Given the description of an element on the screen output the (x, y) to click on. 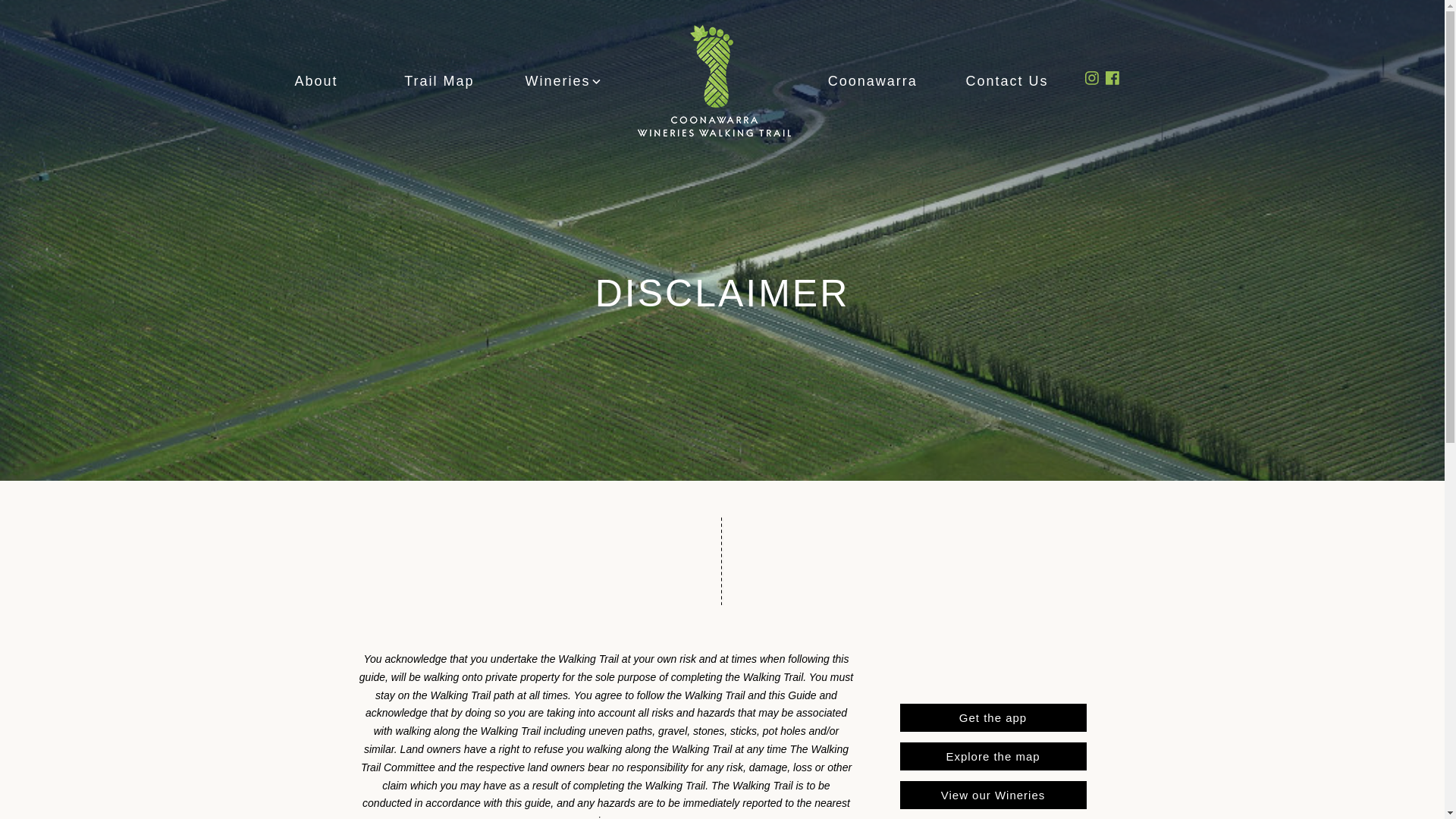
Coonawarra Element type: text (872, 80)
View our Wineries Element type: text (992, 795)
Wineries Element type: text (562, 80)
Explore the map Element type: text (992, 756)
Get the app Element type: text (992, 717)
About Element type: text (316, 80)
Trail Map Element type: text (439, 80)
Contact Us Element type: text (1006, 80)
